Given the description of an element on the screen output the (x, y) to click on. 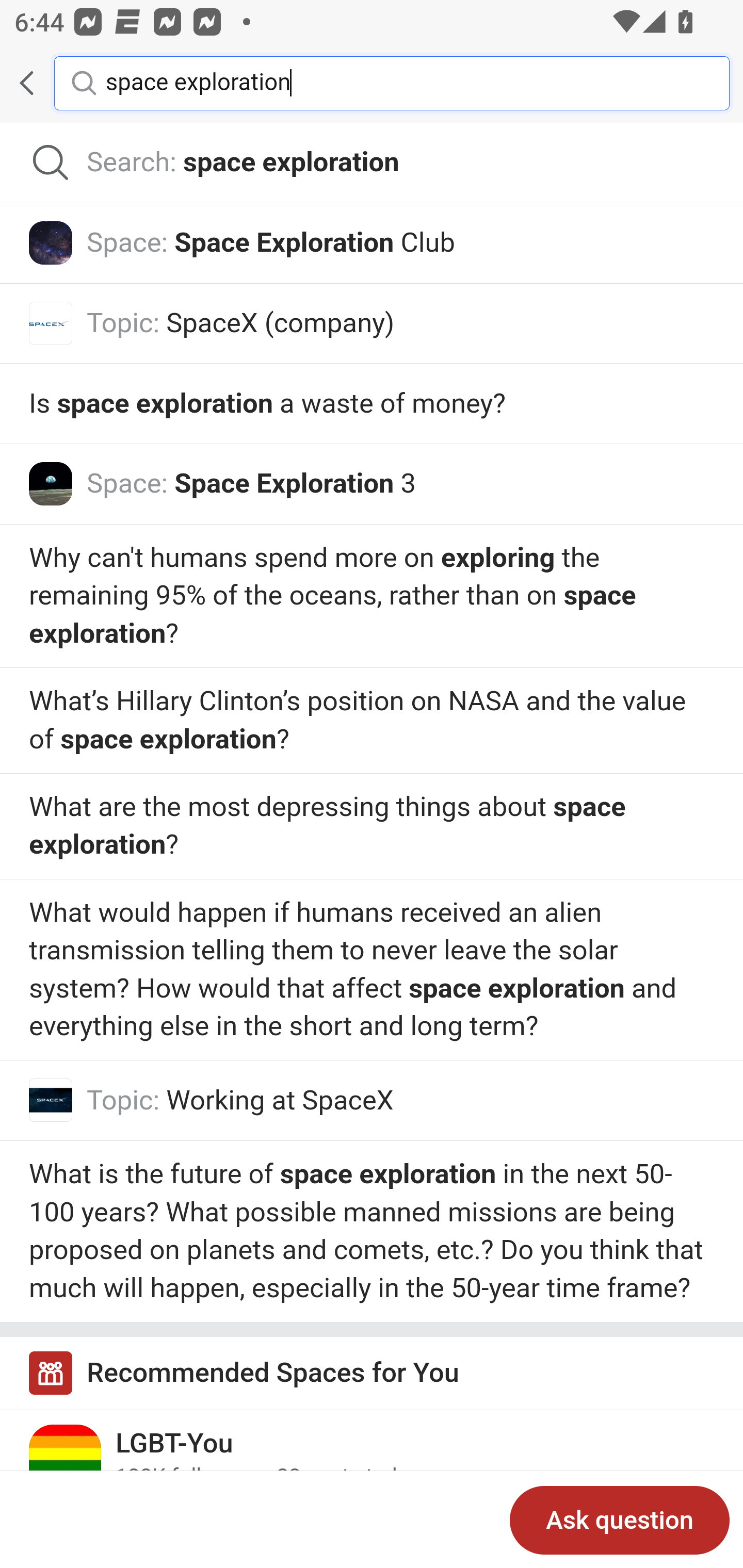
Me Home Search Add (371, 82)
space exploration (402, 82)
Search: spa (371, 162)
Icon for Space Exploration Club (50, 241)
Icon for SpaceX (company) (50, 322)
Is space exploration a waste of money? (371, 403)
Icon for Space Exploration 3 (50, 483)
Why do we explore outer space? (371, 720)
Icon for Working at SpaceX (50, 1099)
Icon for LGBT-You (65, 1460)
